Given the description of an element on the screen output the (x, y) to click on. 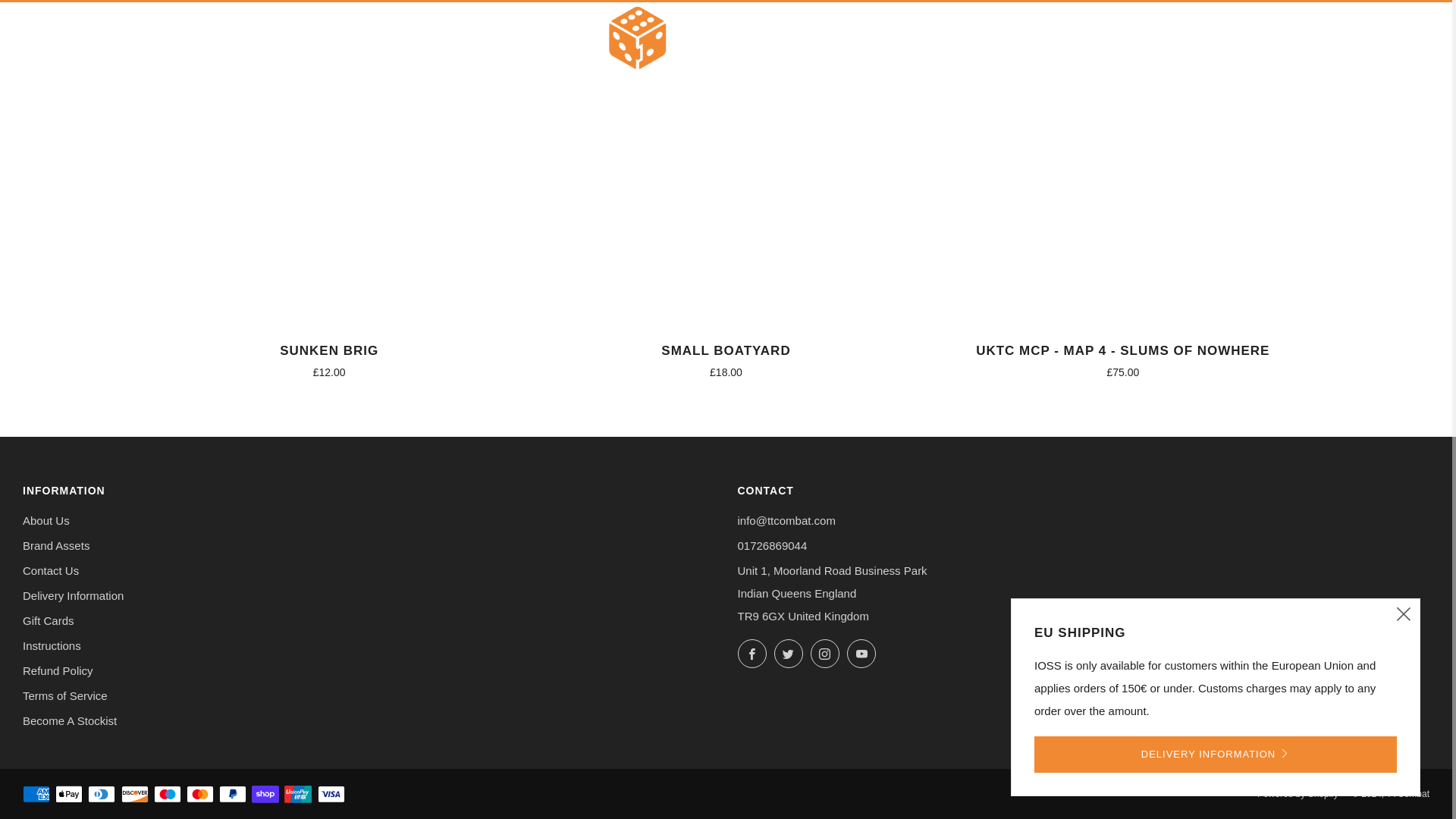
Sunken Brig (329, 358)
Small Boatyard (725, 358)
UKTC MCP - Map 4 - Slums of Nowhere (1122, 358)
